Given the description of an element on the screen output the (x, y) to click on. 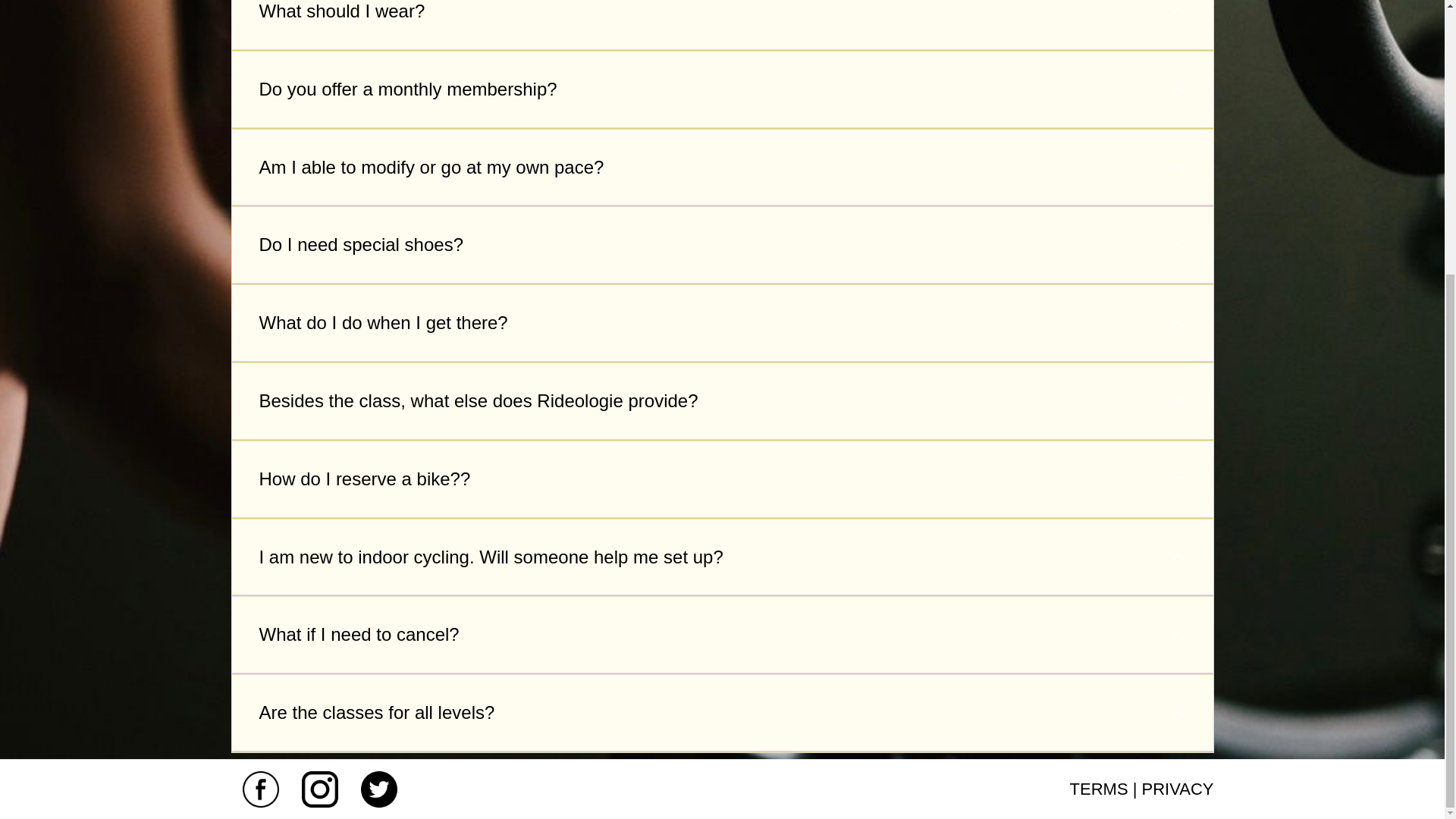
Twitter (379, 787)
Are the classes for all levels? (721, 713)
Do I need special shoes? (721, 245)
Facebook (261, 787)
What if I need to cancel? (721, 635)
What should I wear? (721, 25)
How do I reserve a bike?? (721, 479)
What do I do when I get there? (721, 323)
TERMS (1099, 788)
I am new to indoor cycling. Will someone help me set up? (721, 558)
